Given the description of an element on the screen output the (x, y) to click on. 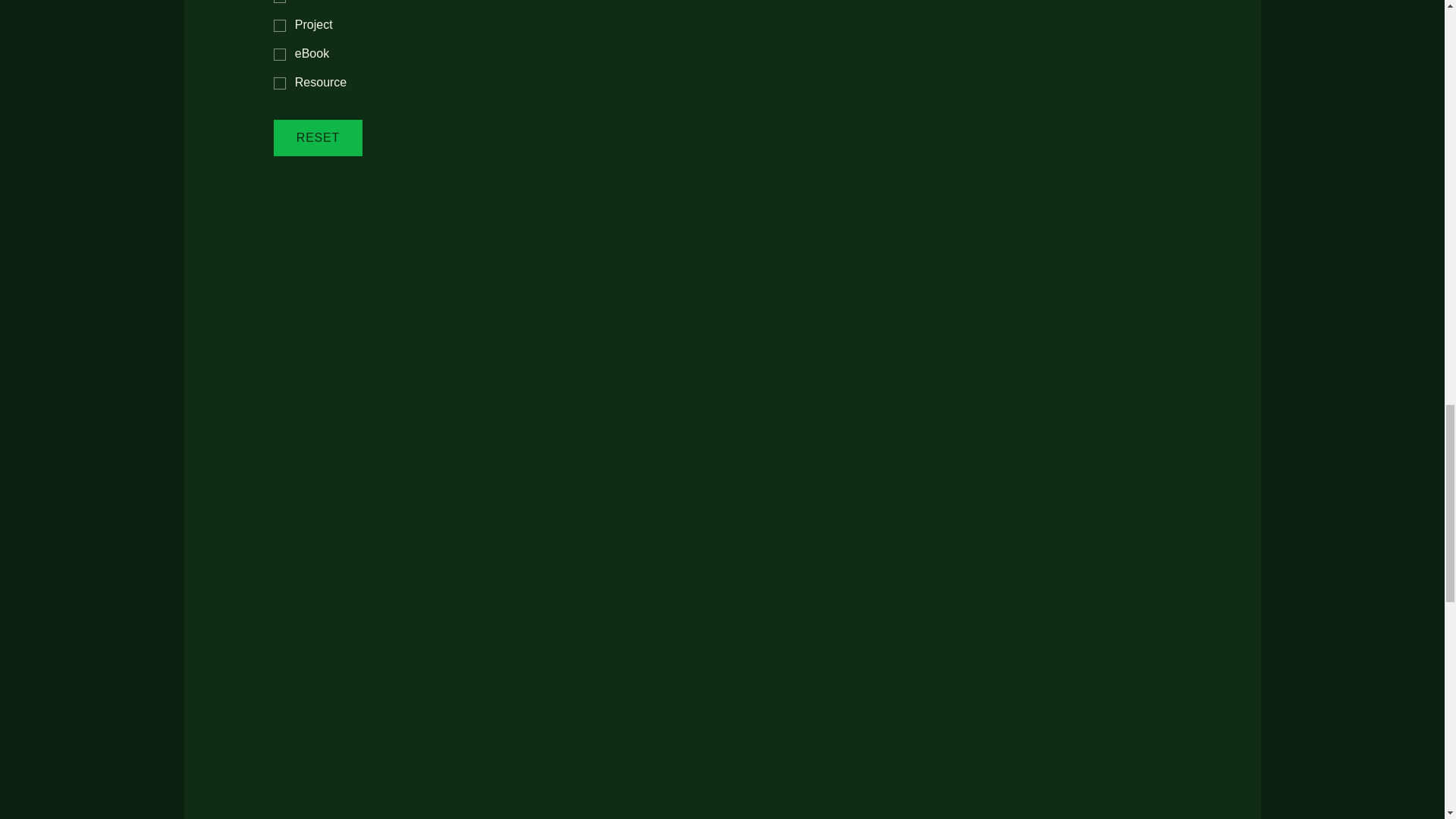
RESET (317, 137)
